Given the description of an element on the screen output the (x, y) to click on. 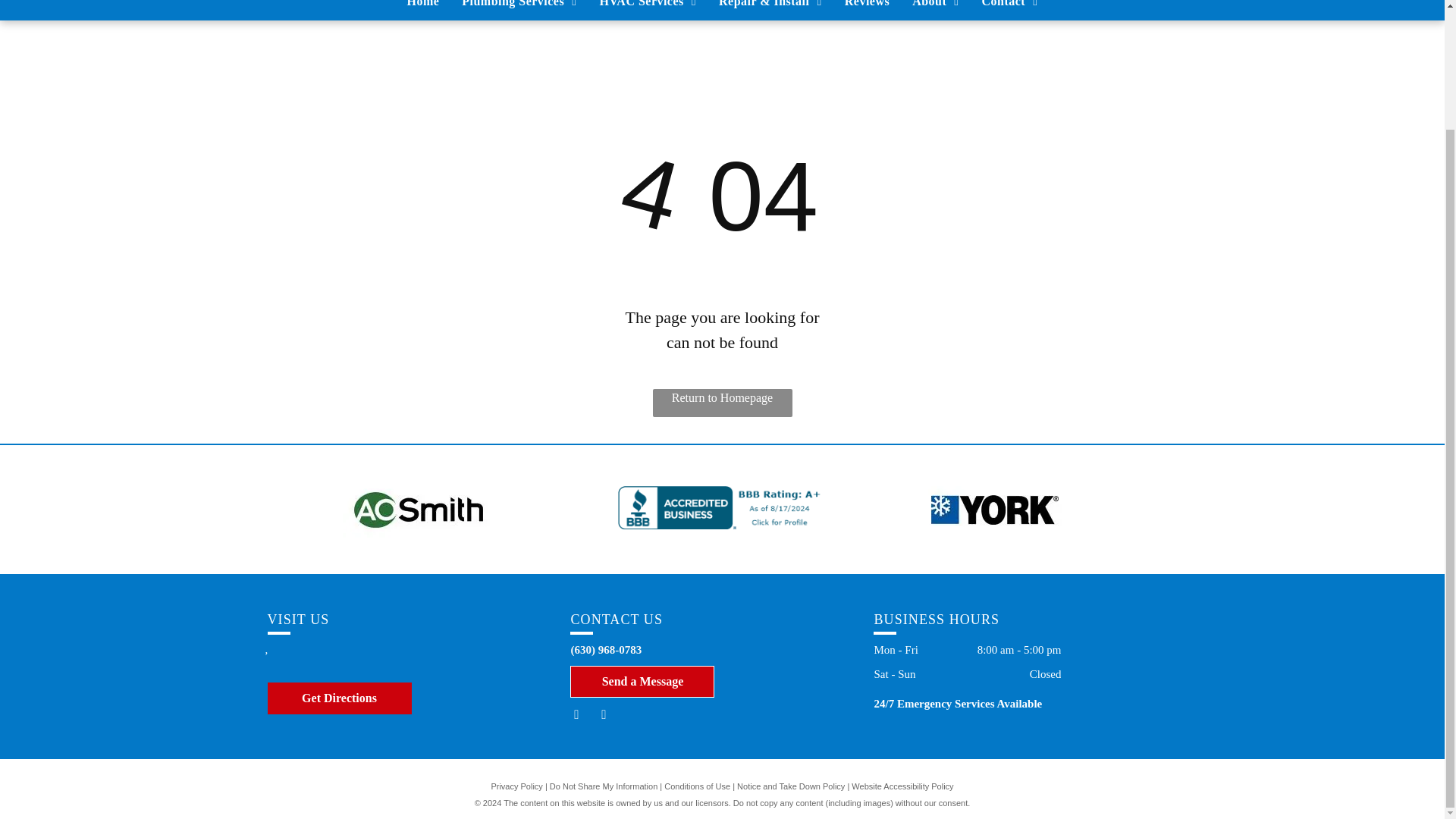
Contact (1010, 7)
Send a Message (642, 681)
Reviews (866, 7)
About (935, 7)
HVAC Services (647, 7)
Return to Homepage (722, 402)
Plumbing Services (518, 7)
Home (423, 7)
Get Directions (338, 698)
